Given the description of an element on the screen output the (x, y) to click on. 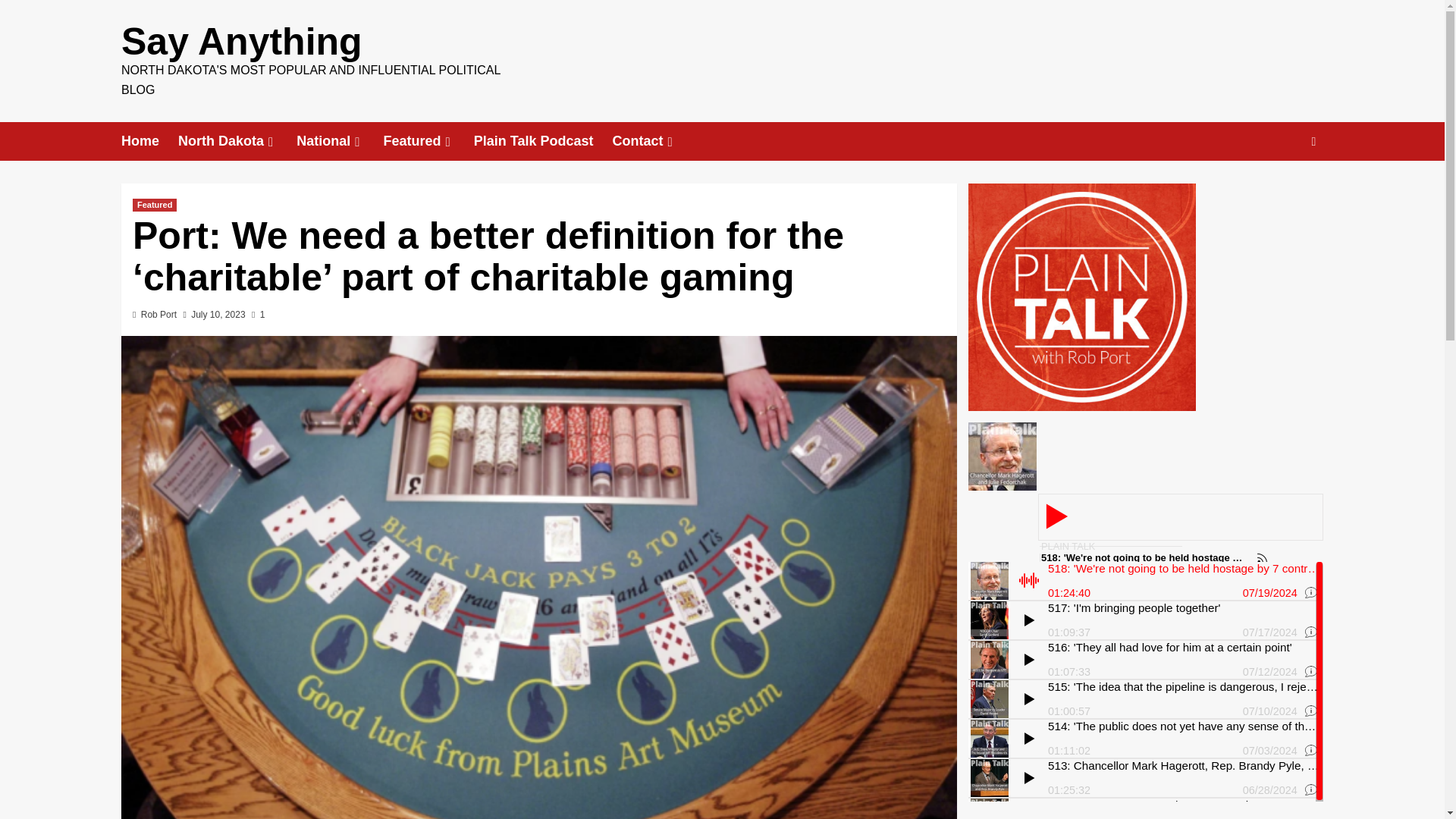
Say Anything (241, 41)
Search (1278, 188)
1 (257, 314)
July 10, 2023 (217, 314)
Plain Talk Podcast (543, 141)
Rob Port (158, 314)
National (339, 141)
Featured (154, 205)
North Dakota (237, 141)
Home (148, 141)
Contact (653, 141)
Featured (427, 141)
